Given the description of an element on the screen output the (x, y) to click on. 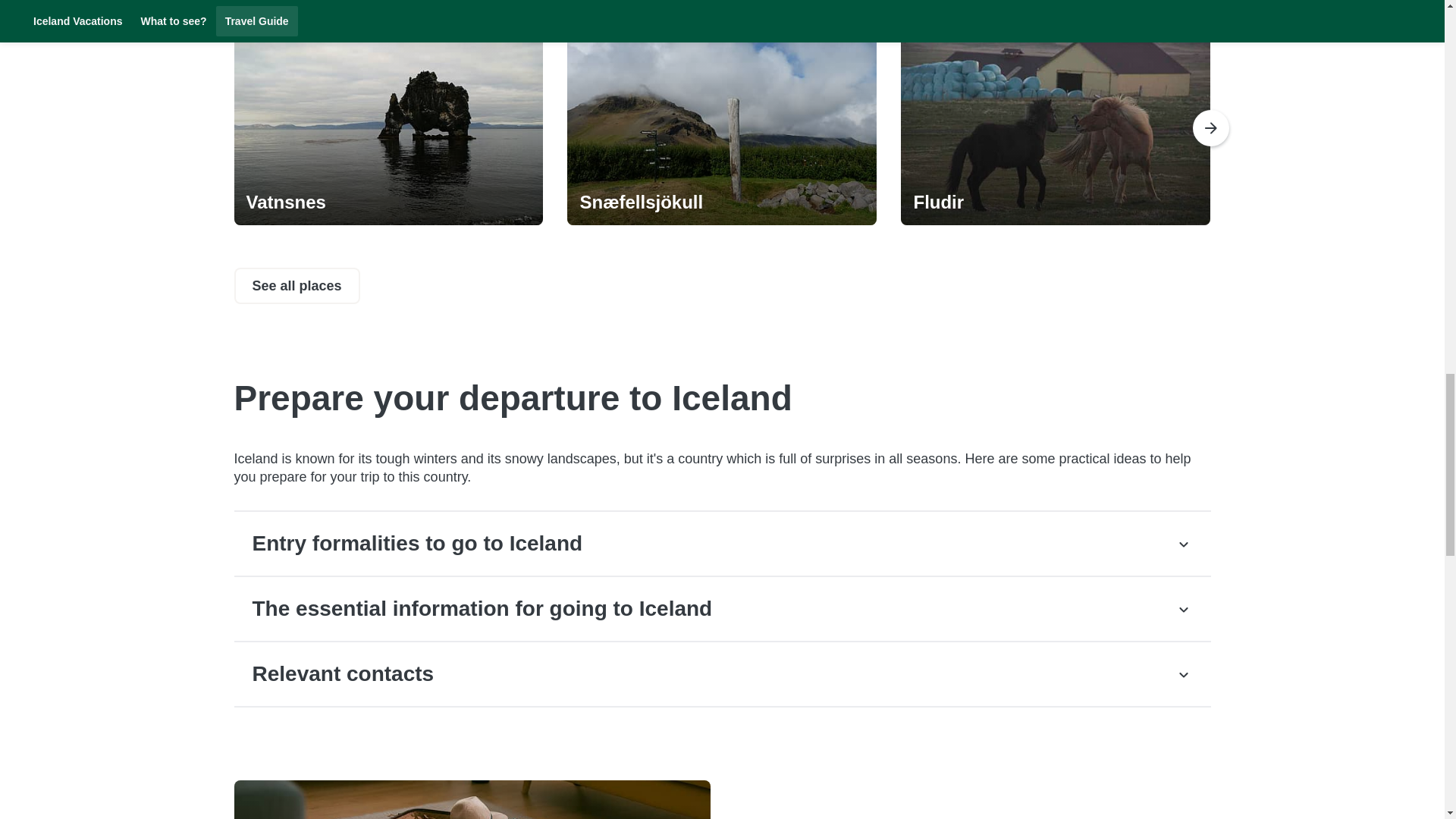
Fludir (1055, 201)
Vatnsnes (388, 201)
